Given the description of an element on the screen output the (x, y) to click on. 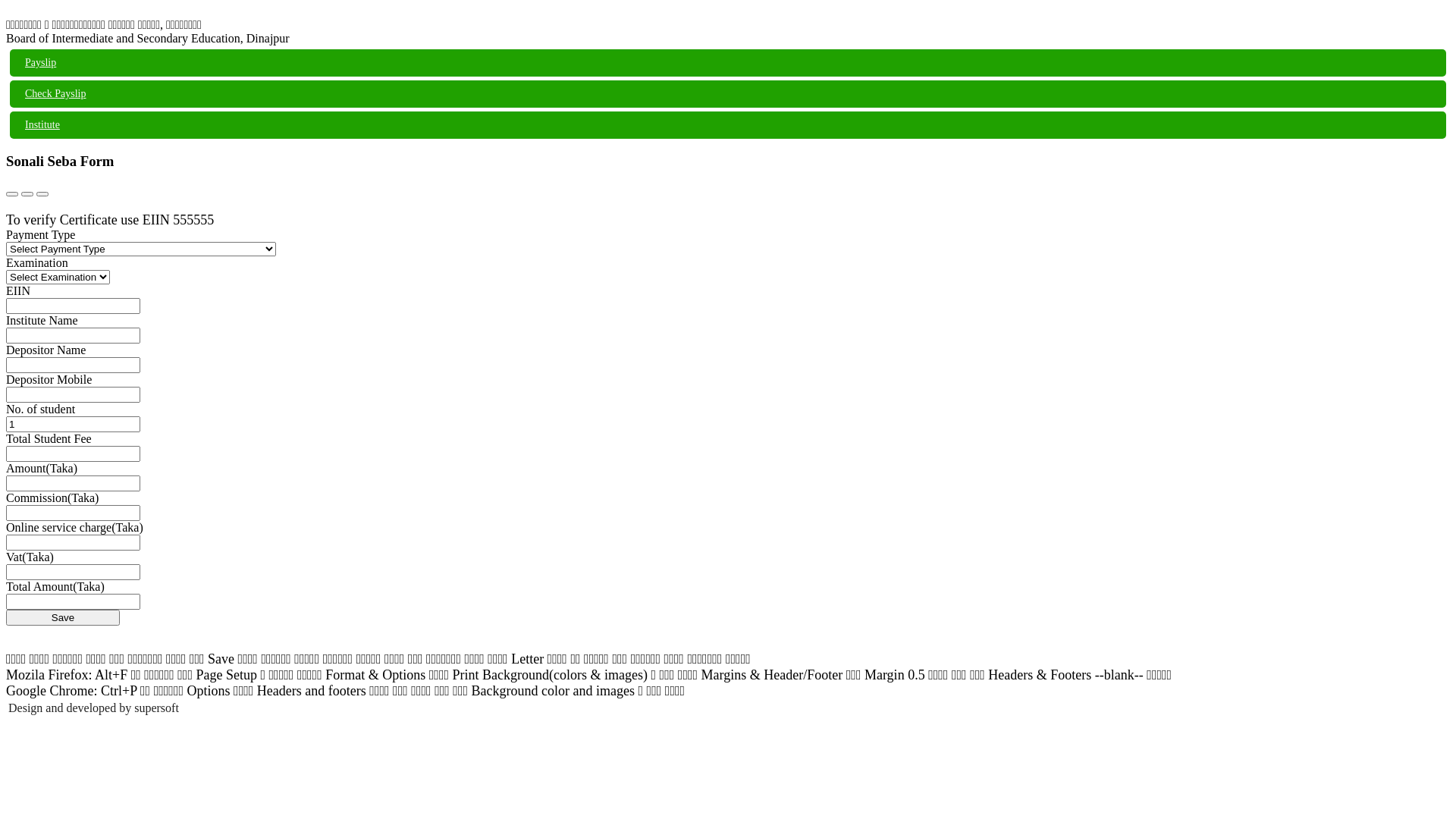
Payslip Element type: text (727, 62)
Institute Element type: text (727, 124)
Save Element type: text (62, 617)
Contacts Element type: hover (27, 193)
Check Payslip Element type: text (727, 93)
